Given the description of an element on the screen output the (x, y) to click on. 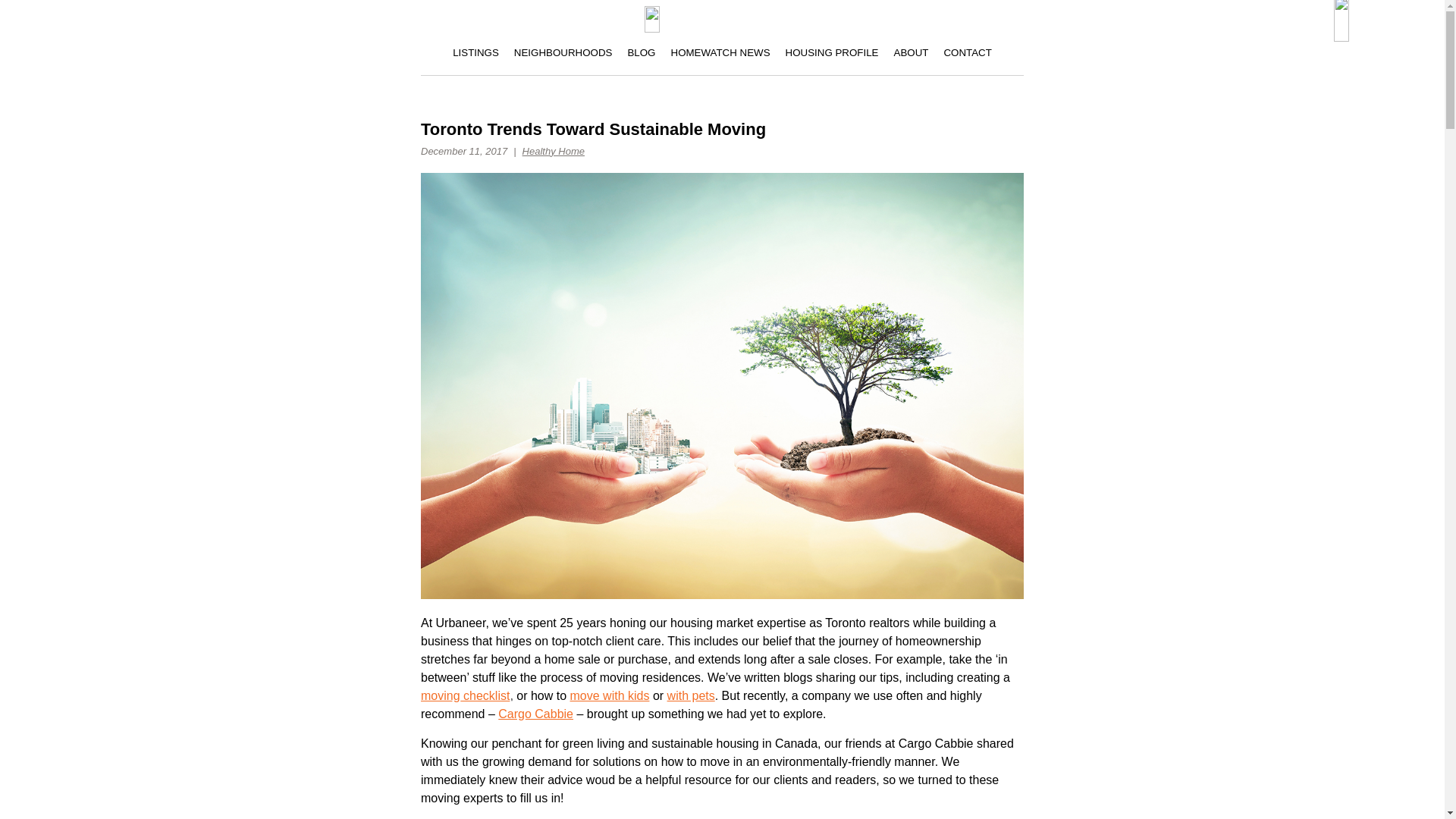
NEIGHBOURHOODS (563, 55)
LISTINGS (475, 55)
move with kids (609, 695)
with pets (690, 695)
BLOG (641, 55)
moving checklist (464, 695)
HOUSING PROFILE (831, 55)
ABOUT (910, 55)
CONTACT (967, 55)
HOMEWATCH NEWS (719, 55)
Healthy Home (553, 151)
Cargo Cabbie (535, 713)
